Given the description of an element on the screen output the (x, y) to click on. 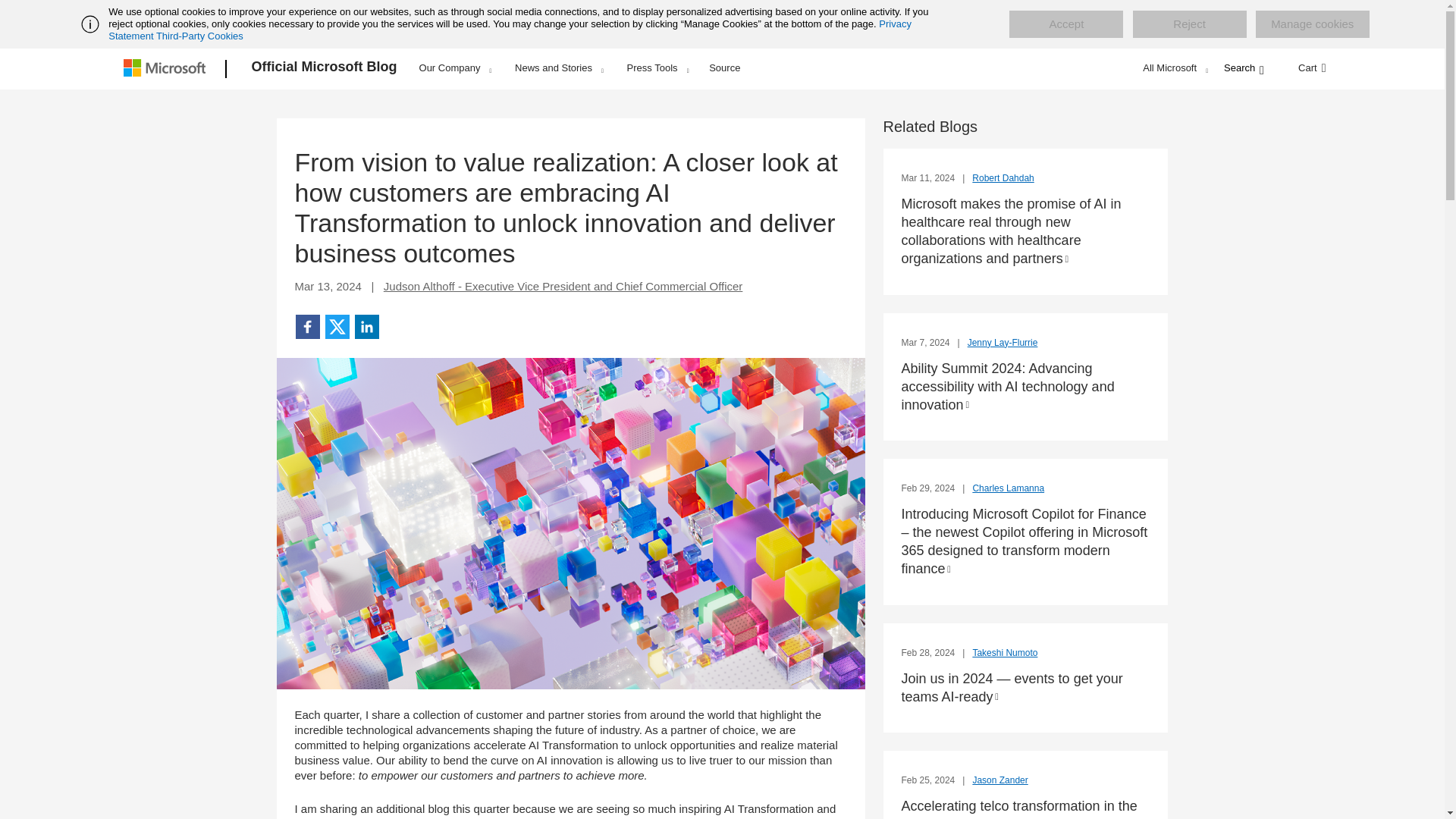
February 28, 2024 (928, 652)
Accept (1065, 23)
March 11, 2024 (928, 177)
Privacy Statement (509, 29)
Reject (1189, 23)
March 13, 2024 (327, 286)
February 29, 2024 (928, 488)
News and Stories (558, 67)
Official Microsoft Blog (324, 69)
February 25, 2024 (928, 779)
Third-Party Cookies (199, 35)
Manage cookies (1312, 23)
March 7, 2024 (926, 342)
Microsoft (167, 69)
Our Company (454, 67)
